Given the description of an element on the screen output the (x, y) to click on. 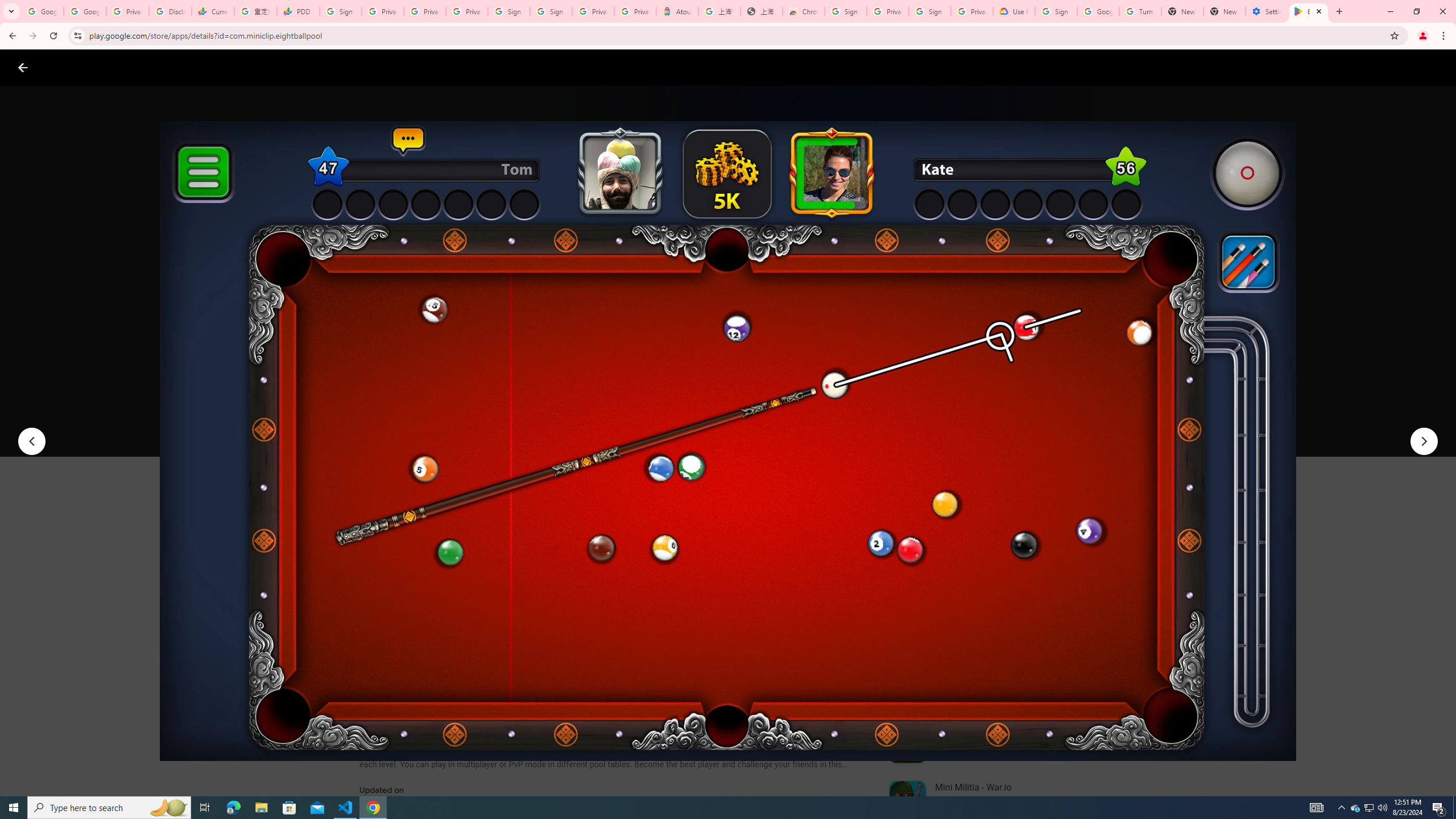
Apps (182, 67)
See more information on More by Miniclip.com (1029, 539)
Close screenshot viewer (22, 67)
Turn cookies on or off - Computer - Google Account Help (1139, 11)
PDD Holdings Inc - ADR (PDD) Price & News - Google Finance (298, 11)
Open account menu (1436, 67)
Scroll Next (848, 563)
